Given the description of an element on the screen output the (x, y) to click on. 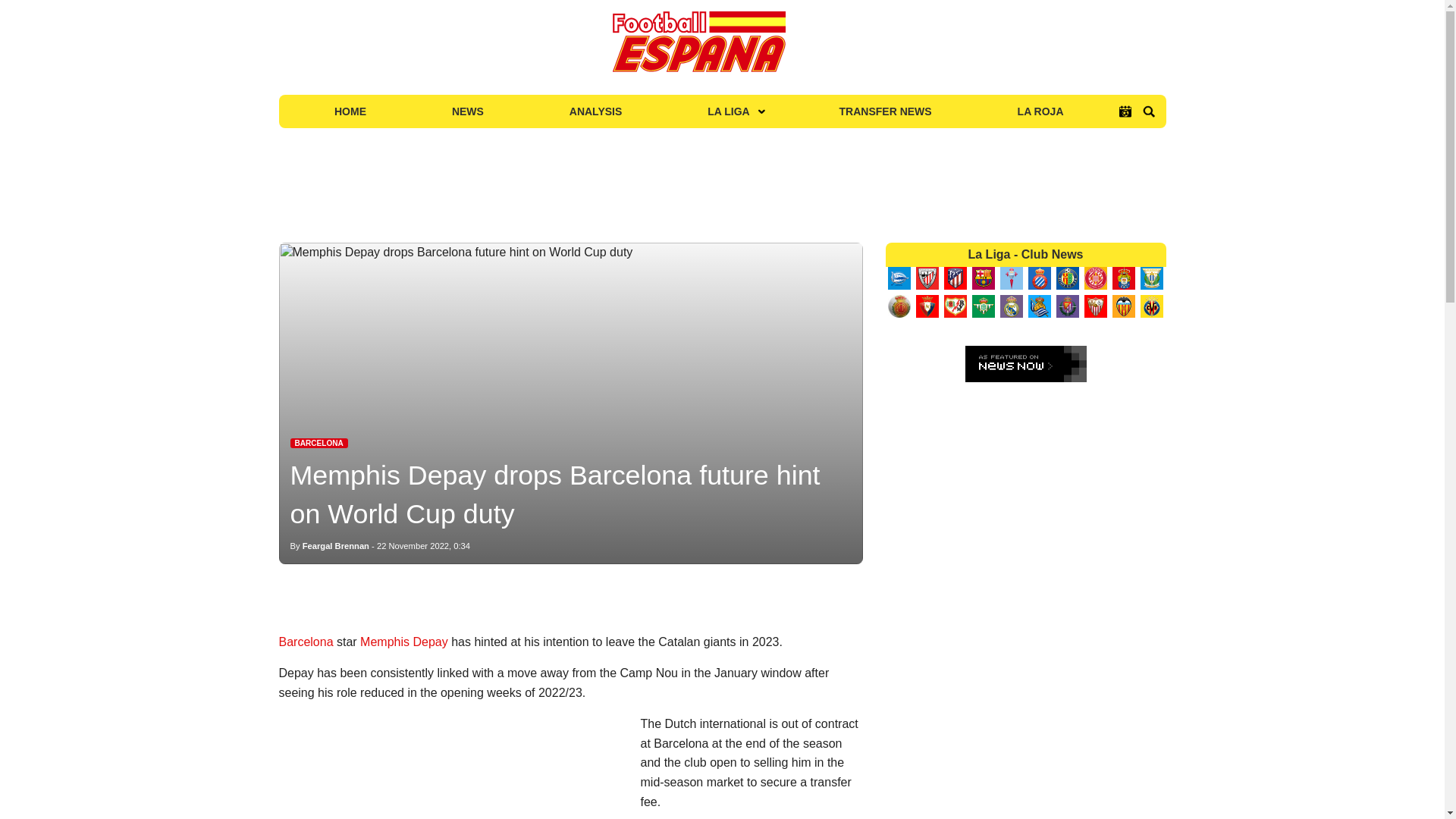
Latest Barcelona News (318, 442)
NEWS (468, 111)
LA ROJA (1040, 111)
TRANSFER NEWS (885, 111)
Search (1147, 111)
LA LIGA (729, 111)
ANALYSIS (595, 111)
La Liga Fixtures (1125, 111)
HOME (350, 111)
